Given the description of an element on the screen output the (x, y) to click on. 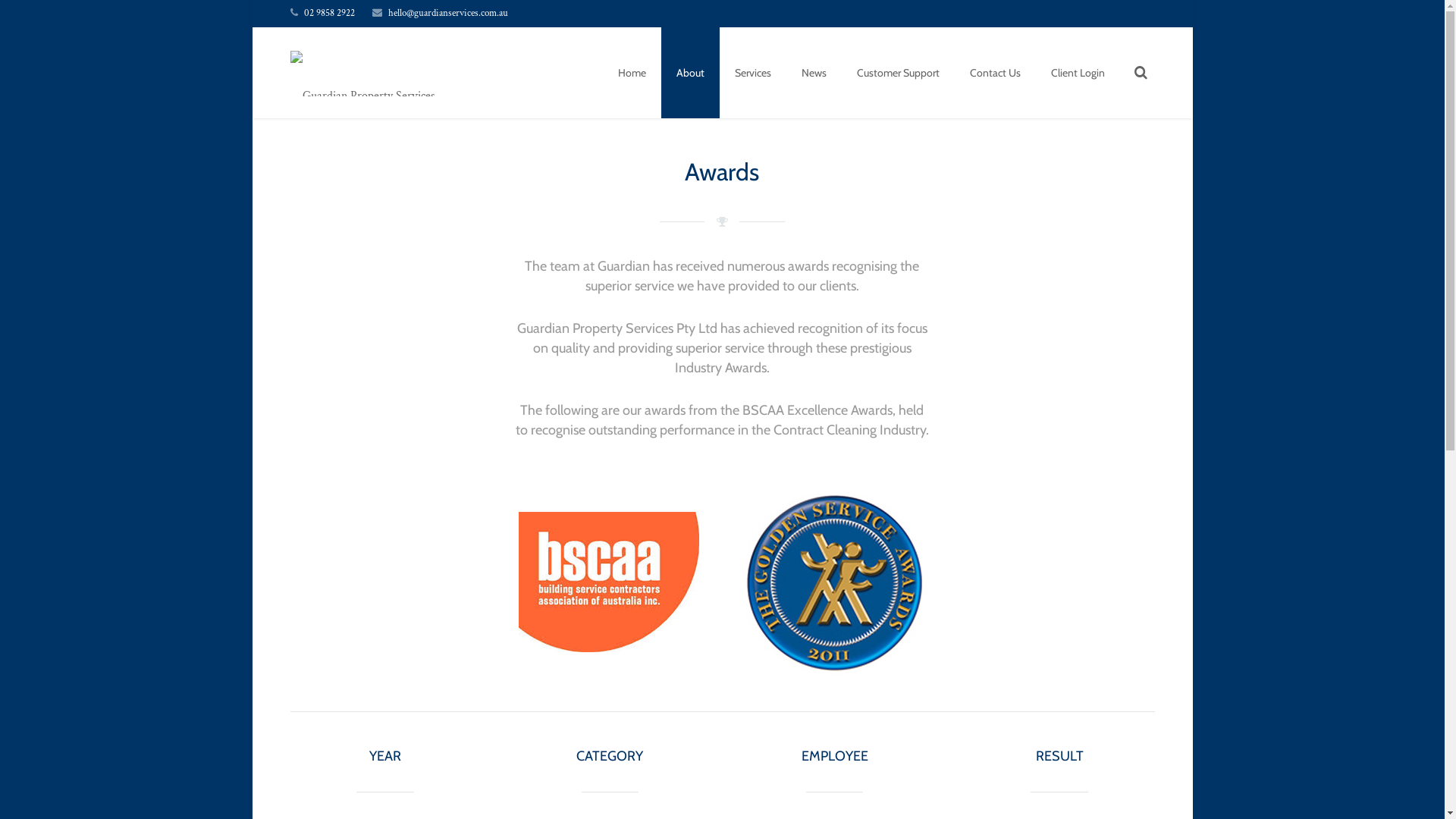
hello@guardianservices.com.au Element type: text (448, 12)
Contact Us Element type: text (994, 72)
Services Element type: text (751, 72)
About Element type: text (690, 72)
Client Login Element type: text (1077, 72)
Home Element type: text (631, 72)
News Element type: text (812, 72)
Customer Support Element type: text (897, 72)
Search Element type: text (48, 15)
